Given the description of an element on the screen output the (x, y) to click on. 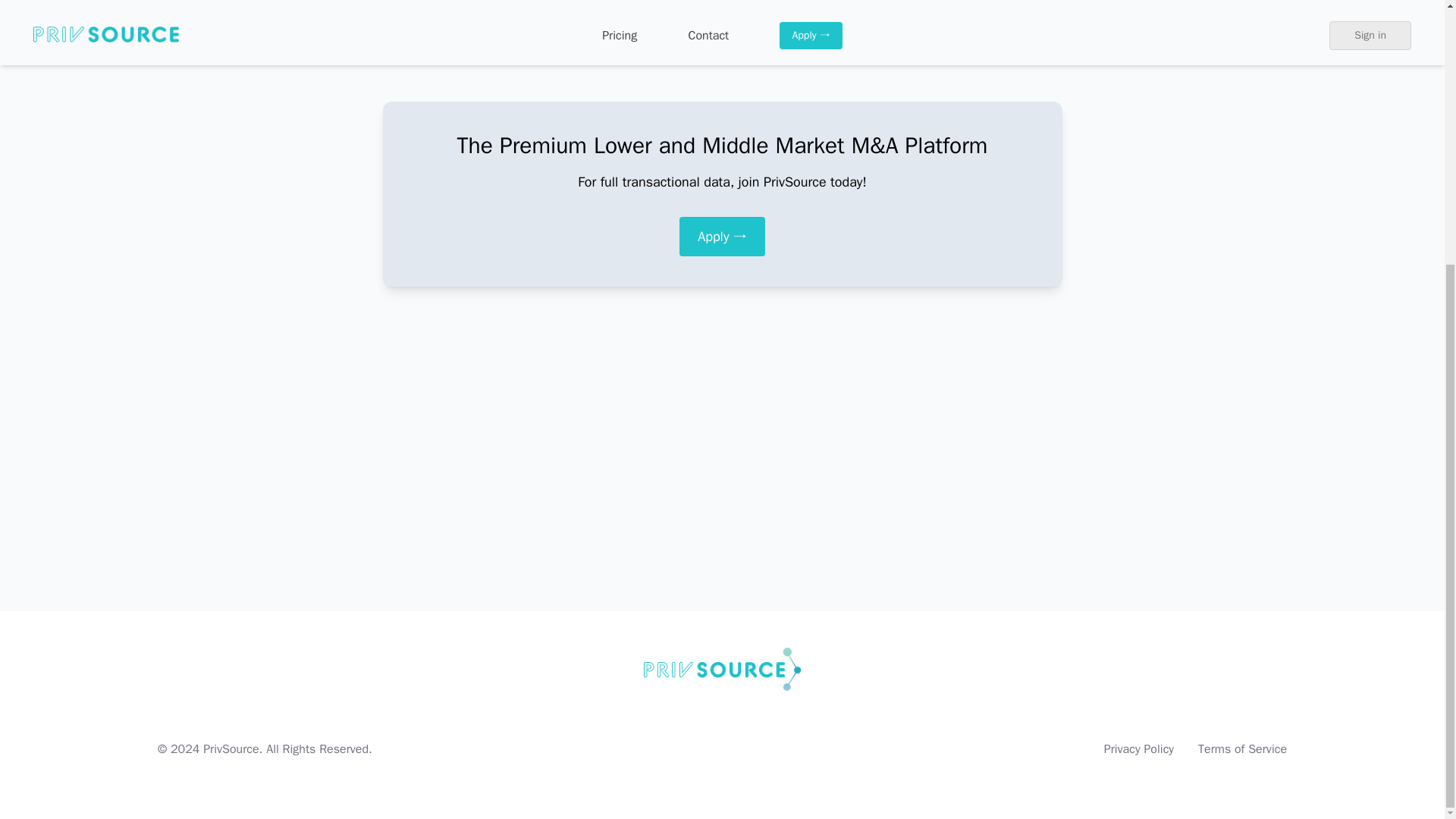
Privacy Policy (1138, 749)
Terms of Service (1242, 749)
